Given the description of an element on the screen output the (x, y) to click on. 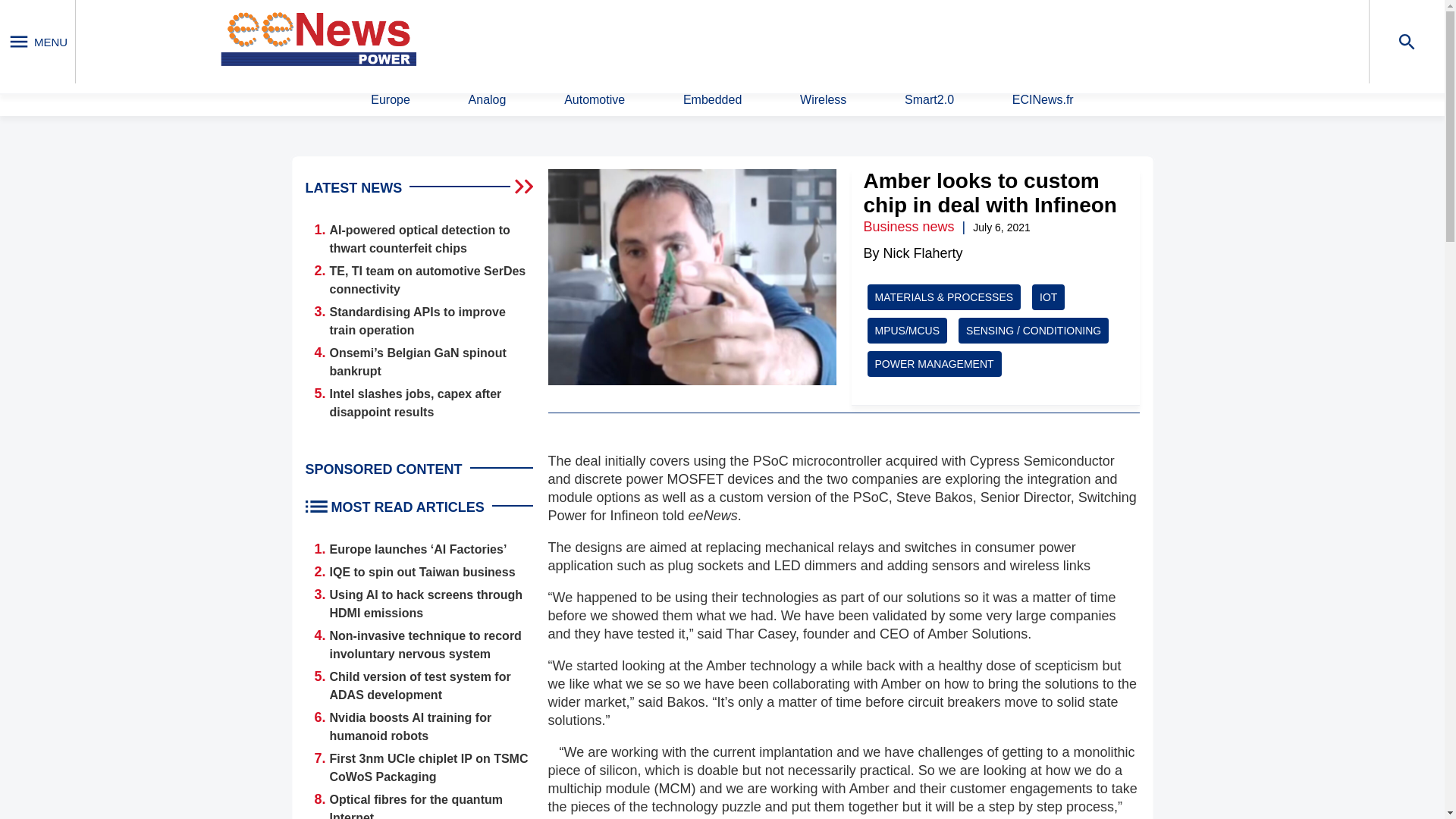
ECINews.fr (1042, 99)
Search (949, 40)
Automotive (594, 99)
Analog (487, 99)
Smart2.0 (928, 99)
Europe (390, 99)
Wireless (822, 99)
Embedded (711, 99)
